Given the description of an element on the screen output the (x, y) to click on. 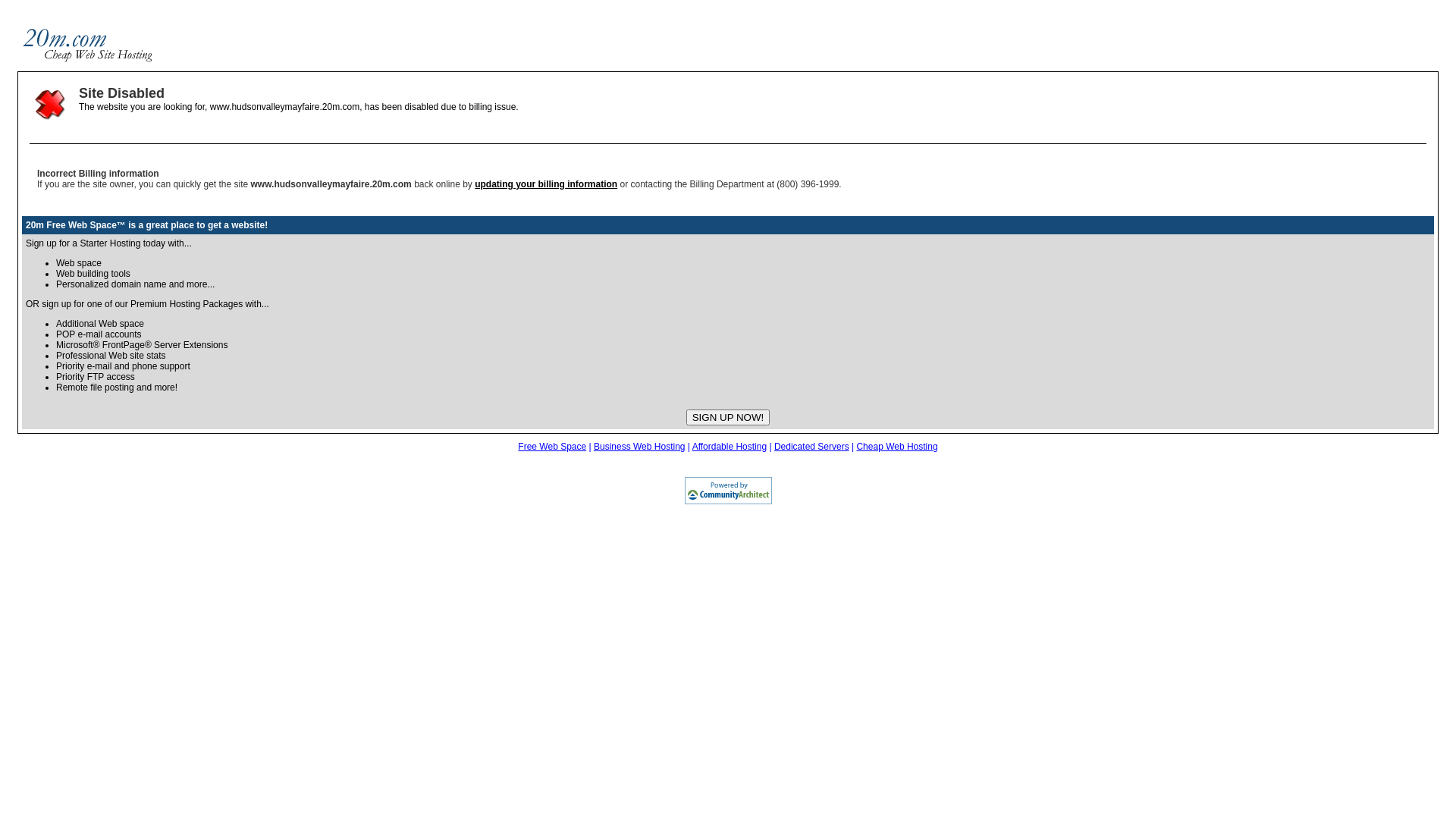
Affordable Hosting Element type: text (729, 446)
Business Web Hosting Element type: text (639, 446)
updating your billing information Element type: text (545, 183)
Free Web Space Element type: text (551, 446)
SIGN UP NOW! Element type: text (728, 417)
Dedicated Servers Element type: text (811, 446)
Cheap Web Hosting Element type: text (896, 446)
